Given the description of an element on the screen output the (x, y) to click on. 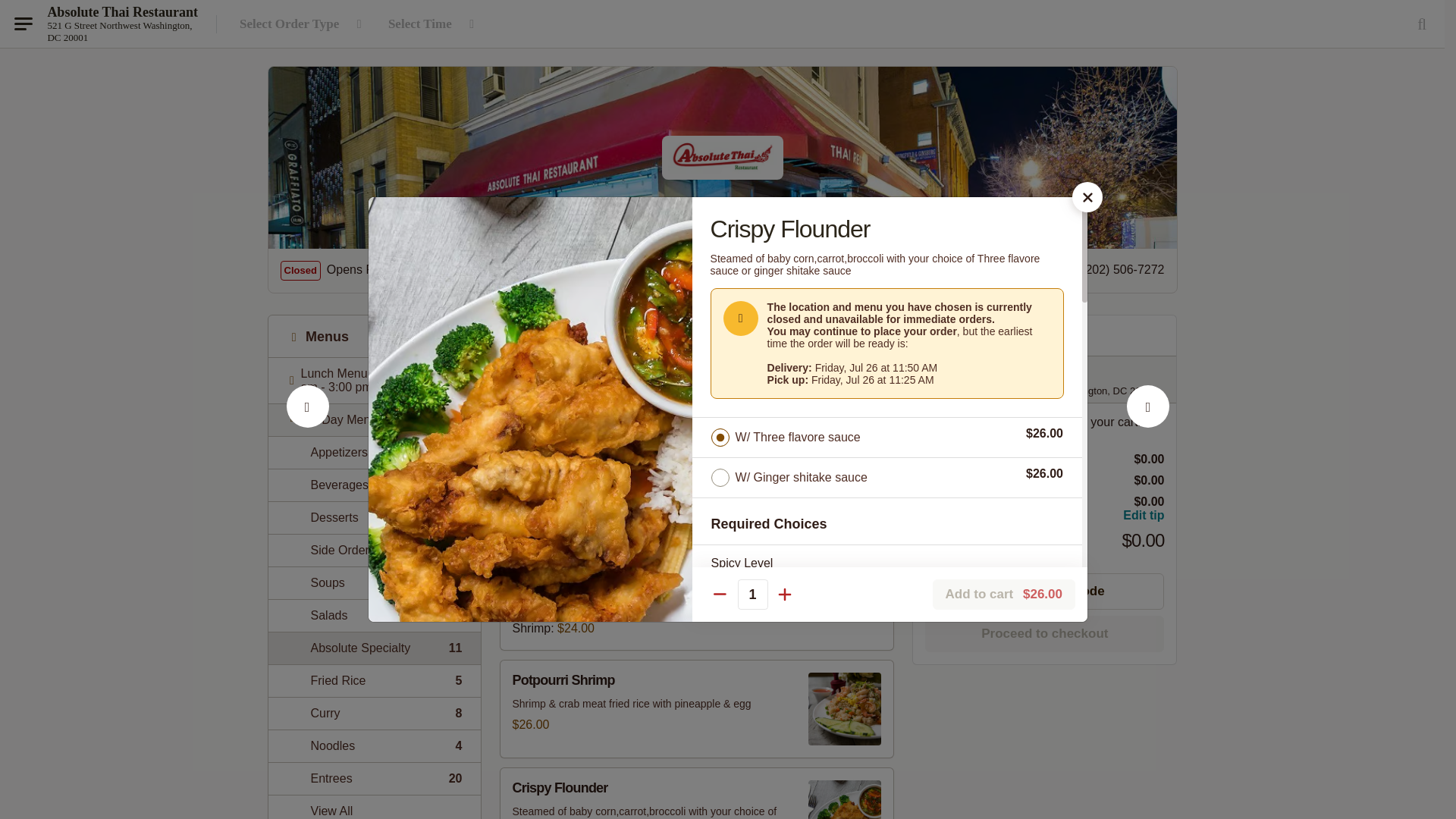
View Hours (505, 270)
Potpourri Shrimp (373, 549)
Choose a Spicy Level (373, 582)
Select Time (373, 680)
Absolute Thai Restaurant (373, 484)
Proceed to checkout (307, 422)
521 G Street Northwest Washington, DC 20001 (886, 591)
Select Order Type (433, 23)
